Given the description of an element on the screen output the (x, y) to click on. 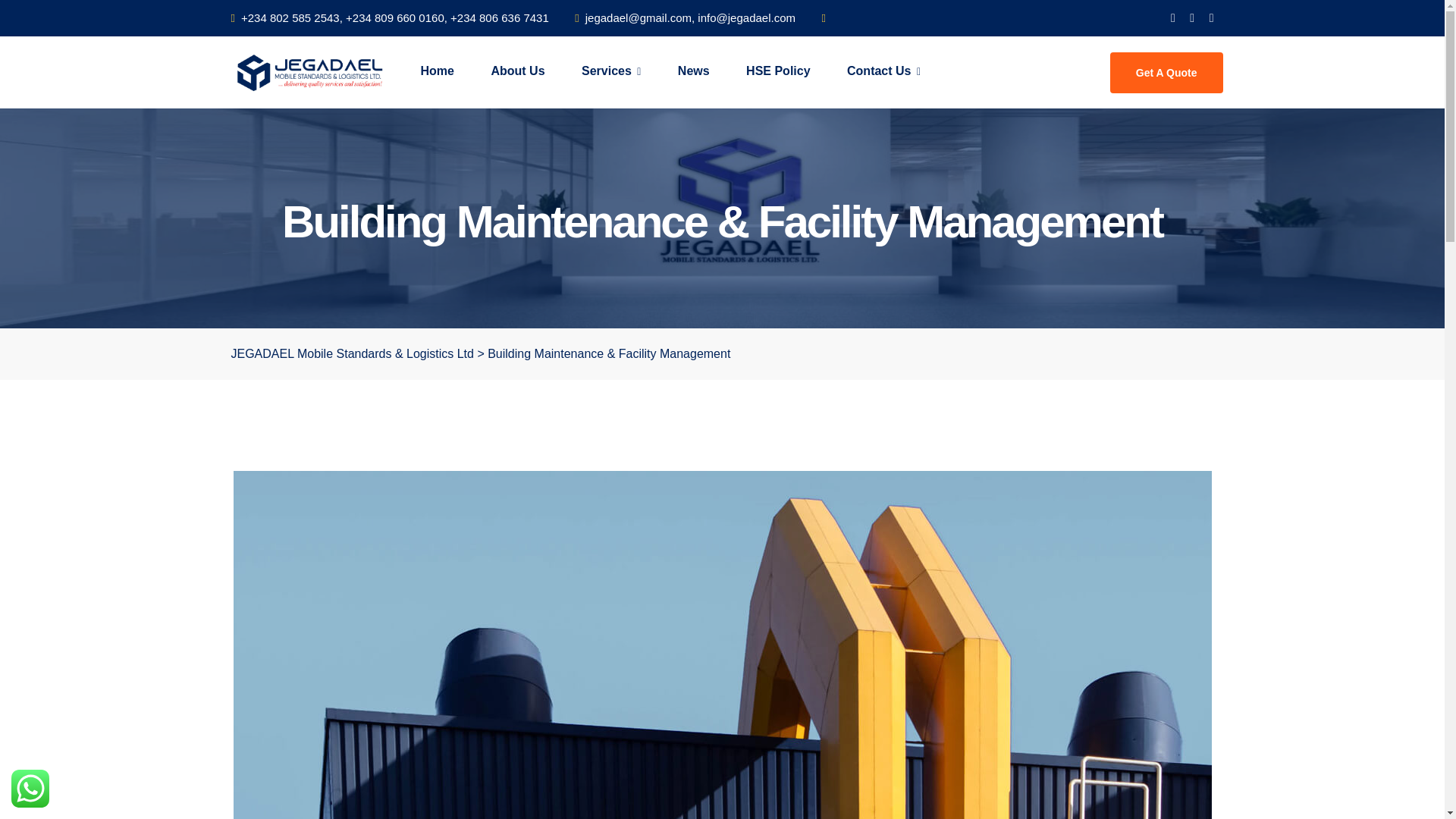
HSE Policy (778, 71)
About Us (517, 71)
Contact Us (883, 71)
News (693, 71)
Get A Quote (1166, 71)
Home (437, 71)
HSE Policy (778, 71)
Services (611, 71)
About Us (517, 71)
News (693, 71)
Contact Us (883, 71)
Home (437, 71)
Services (611, 71)
